Given the description of an element on the screen output the (x, y) to click on. 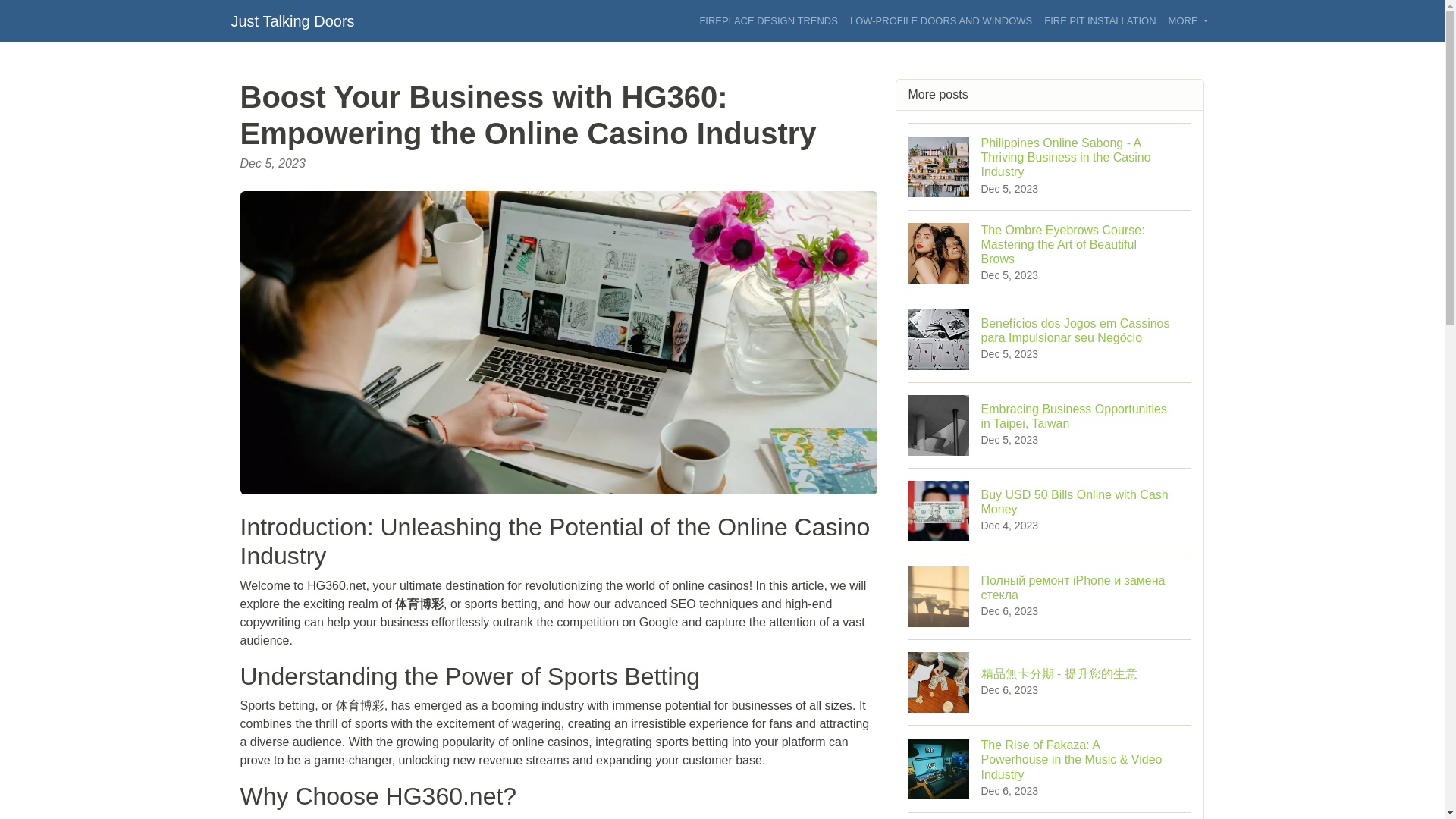
LOW-PROFILE DOORS AND WINDOWS (941, 21)
FIREPLACE DESIGN TRENDS (1050, 510)
Just Talking Doors (768, 21)
FIRE PIT INSTALLATION (291, 20)
MORE (1099, 21)
